Given the description of an element on the screen output the (x, y) to click on. 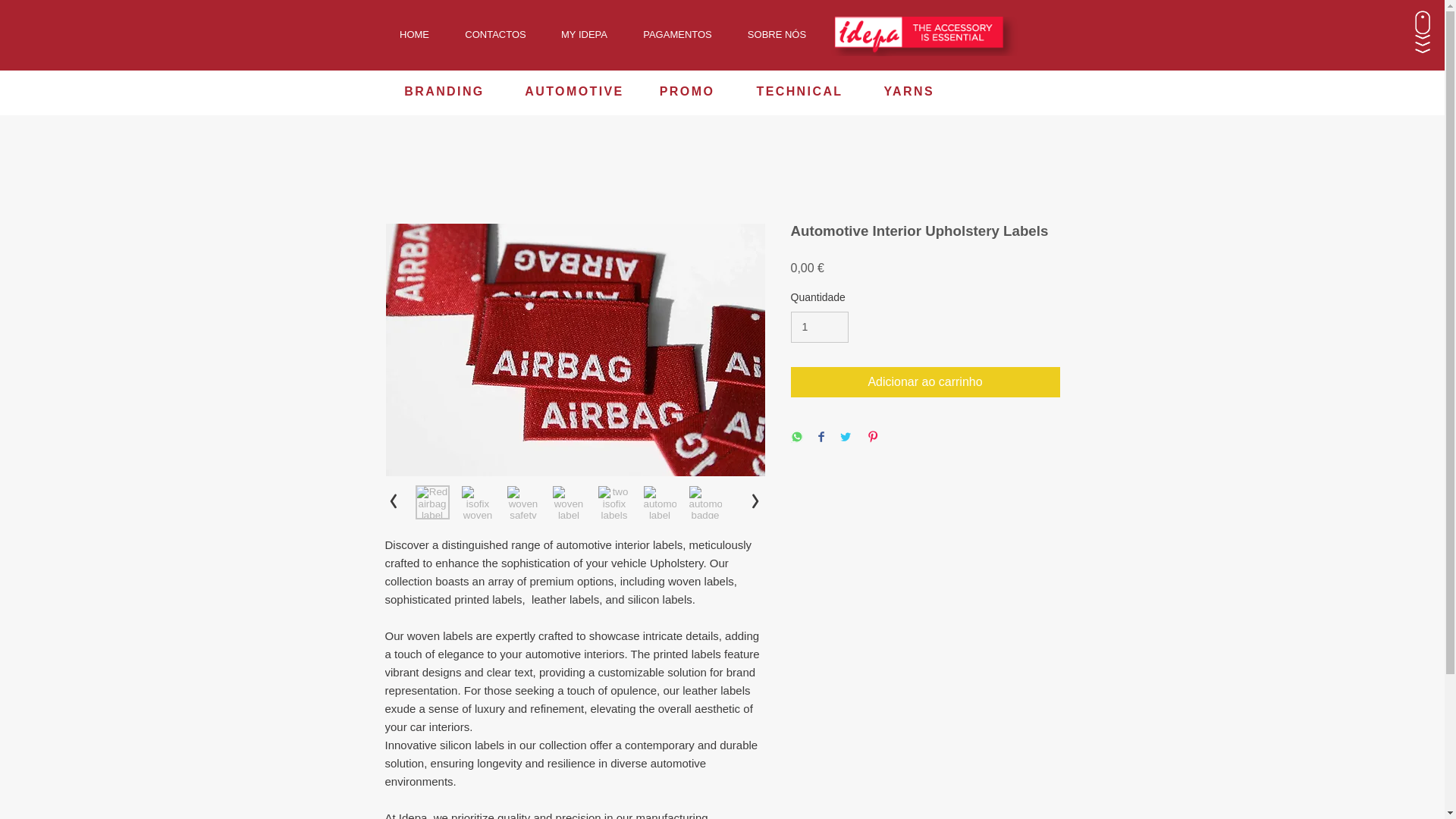
BRANDING (443, 91)
Adicionar ao carrinho (924, 381)
TECHNICAL (799, 91)
1 (818, 327)
CONTACTOS (494, 34)
PAGAMENTOS (676, 34)
YARNS (908, 91)
PROMO  (689, 91)
HOME (413, 34)
MY IDEPA (583, 34)
